Given the description of an element on the screen output the (x, y) to click on. 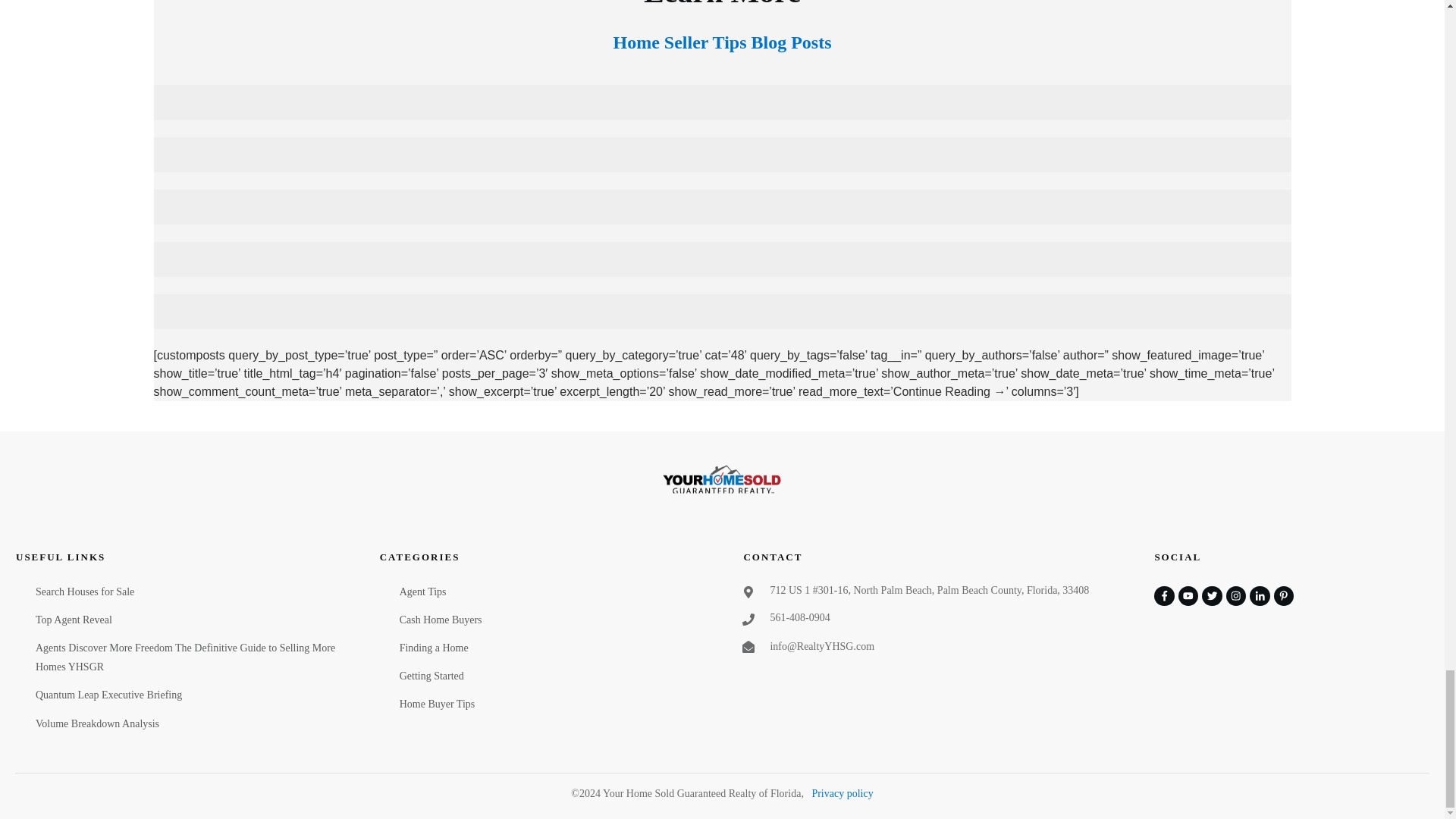
Top Agent Reveal (73, 619)
Quantum Leap Executive Briefing (108, 694)
Agent Tips (422, 591)
Cash Home Buyers (439, 619)
Finding a Home (433, 647)
Getting Started (431, 675)
Search Houses for Sale (83, 591)
Privacy policy (841, 793)
Volume Breakdown Analysis (96, 723)
